Given the description of an element on the screen output the (x, y) to click on. 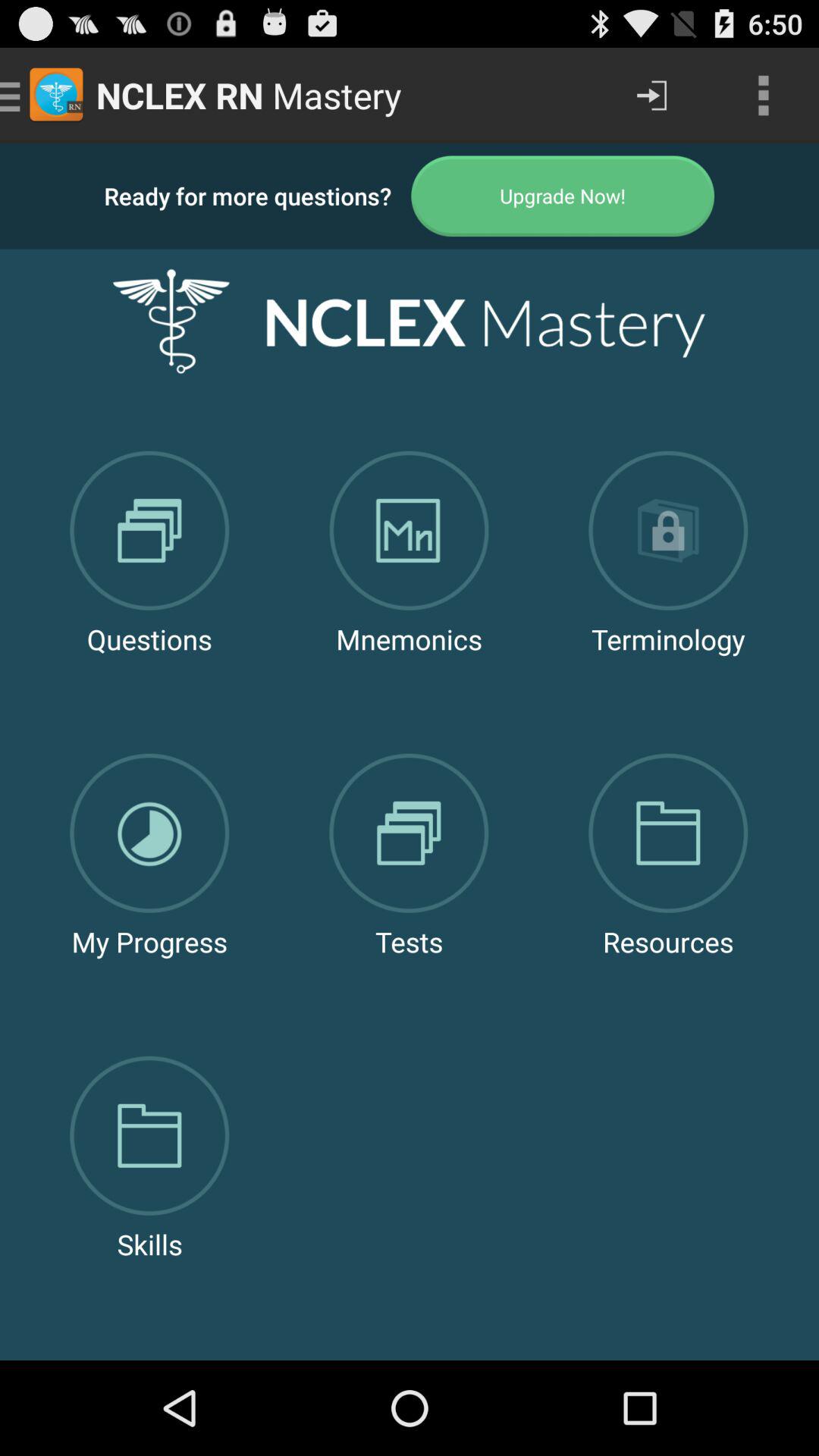
toggle autoplay option (562, 195)
